Given the description of an element on the screen output the (x, y) to click on. 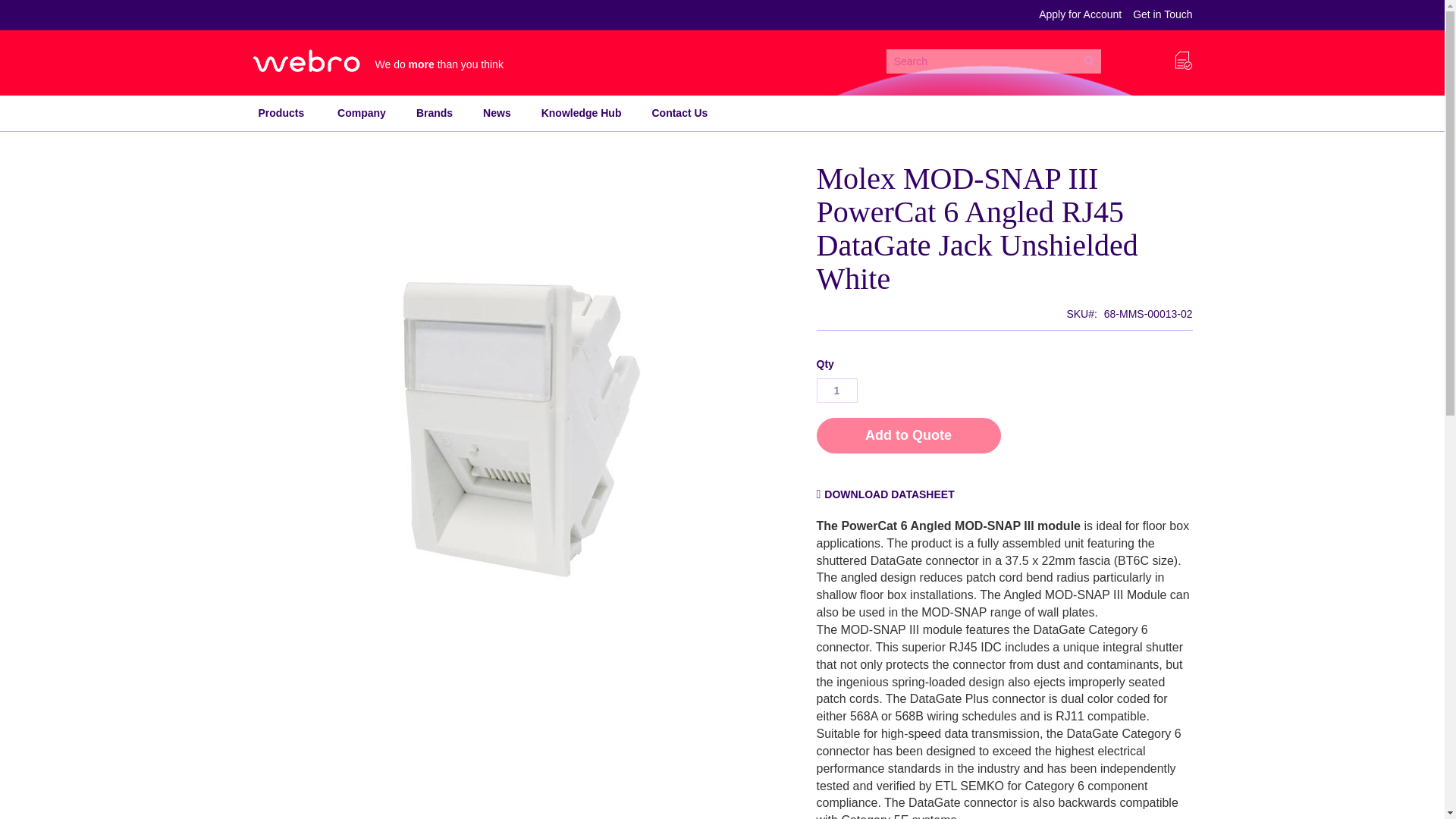
Qty (836, 390)
Apply for Account (1080, 14)
Add to Quote (907, 435)
1 (836, 390)
Get in Touch (1162, 14)
We do more than you think (381, 60)
Products (280, 113)
